Given the description of an element on the screen output the (x, y) to click on. 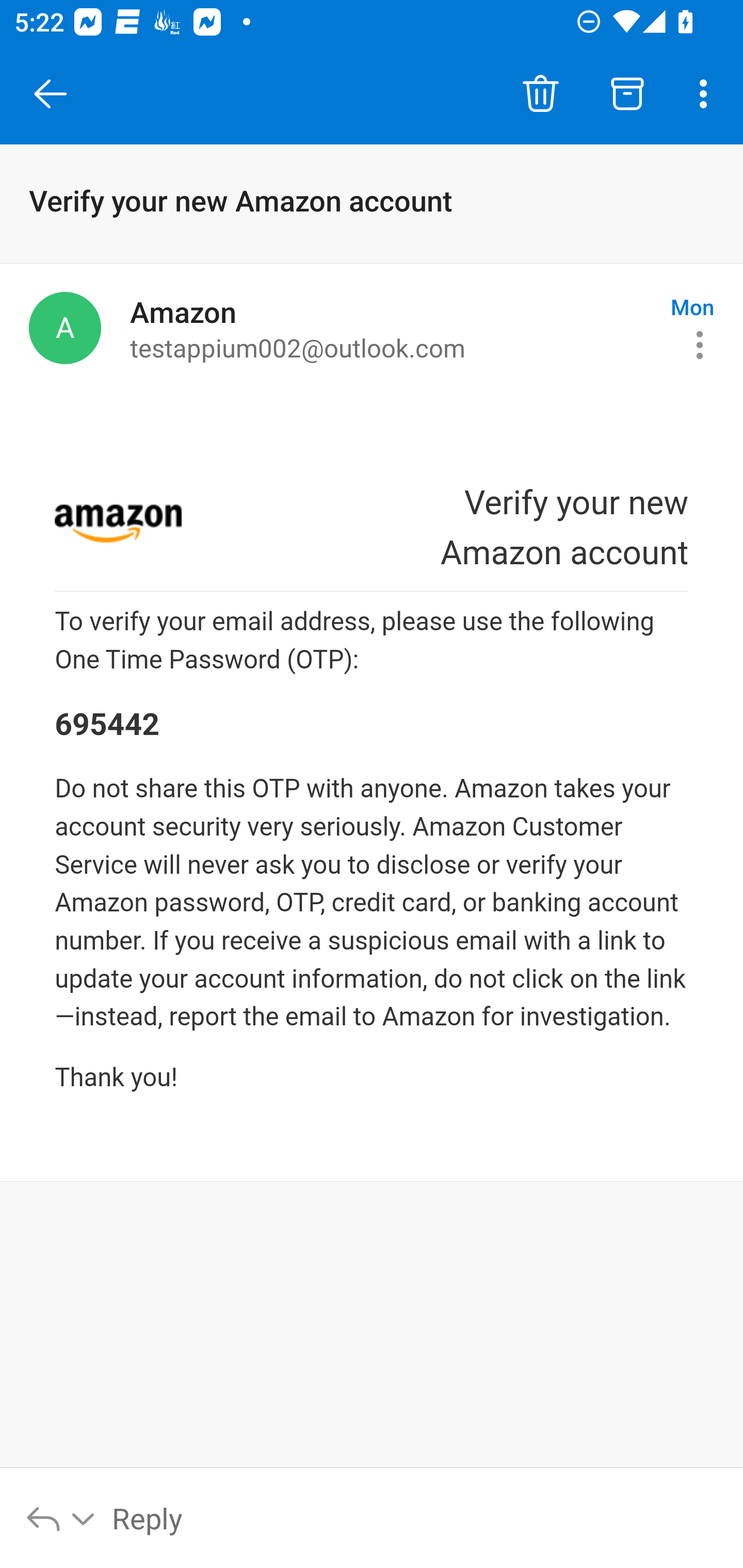
Close (50, 93)
Delete (540, 93)
Archive (626, 93)
More options (706, 93)
Amazon, account-update@amazon.com (64, 327)
Amazon
to testappium002@outlook.com (393, 328)
Message actions (699, 344)
Reply options (61, 1517)
